Given the description of an element on the screen output the (x, y) to click on. 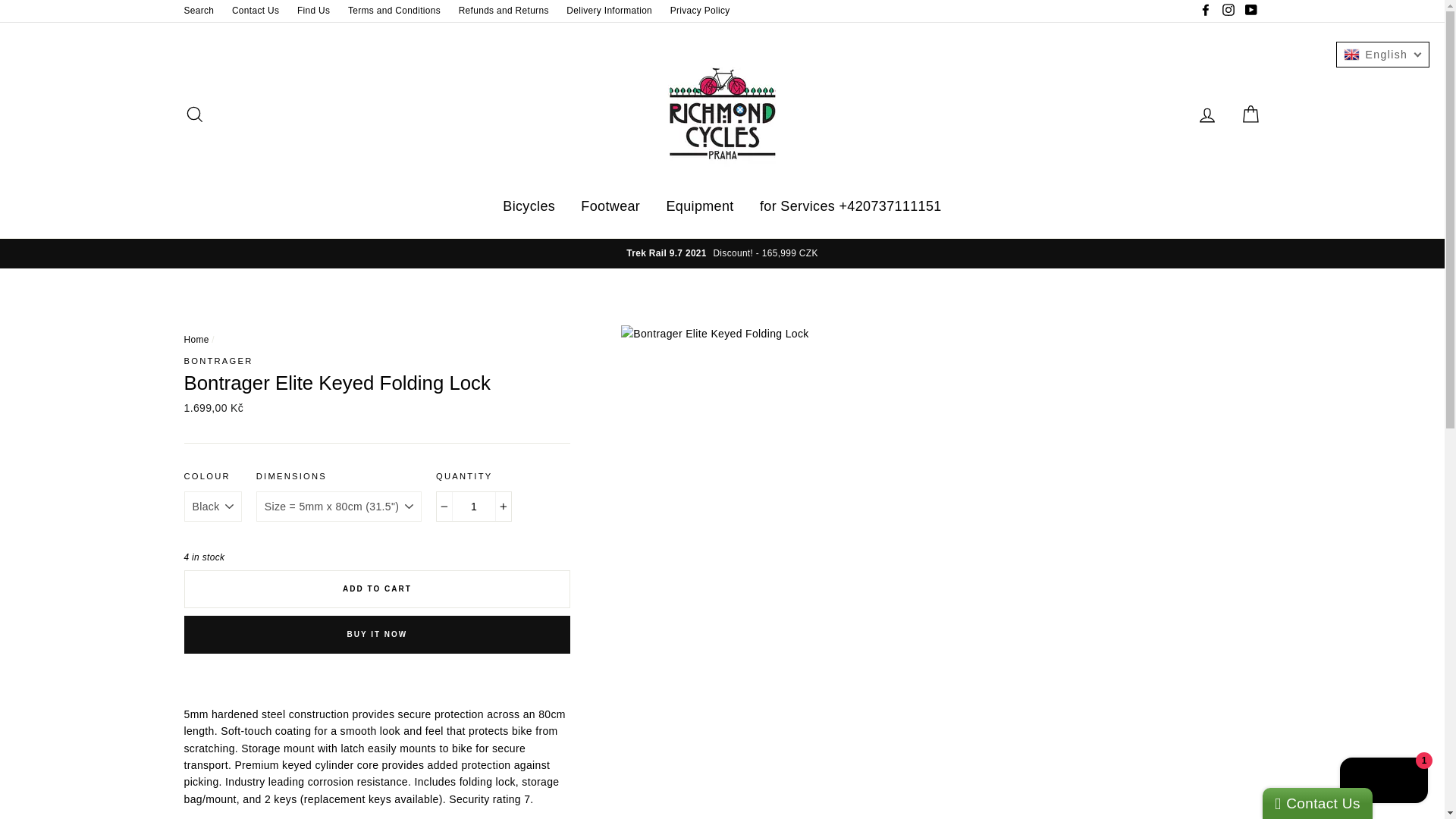
Shopify online store chat (1383, 781)
Richmond Cycles Praha on Instagram (1228, 11)
Richmond Cycles Praha on Facebook (1205, 11)
1 (473, 506)
Richmond Cycles Praha on YouTube (1250, 11)
Back to the frontpage (195, 339)
